Given the description of an element on the screen output the (x, y) to click on. 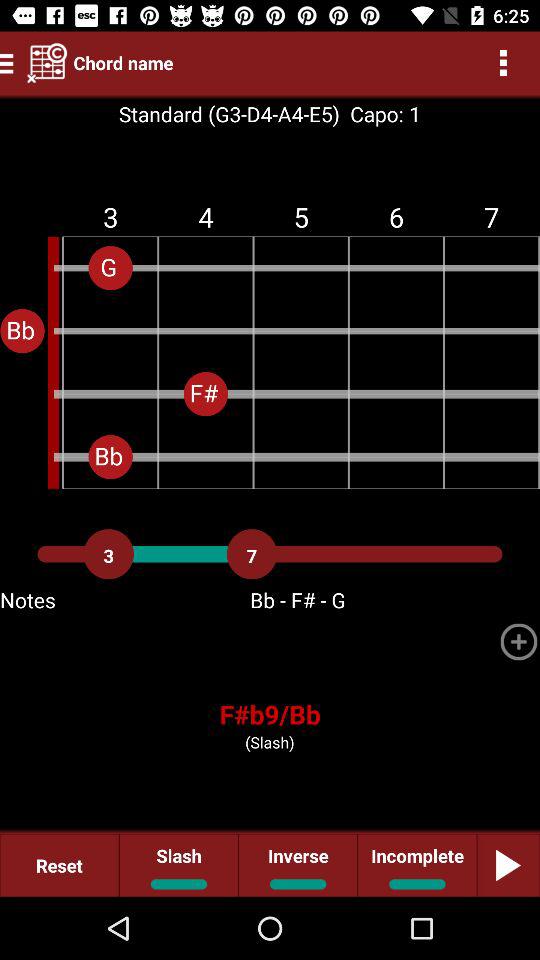
jump to the   capo: 1 (379, 113)
